Given the description of an element on the screen output the (x, y) to click on. 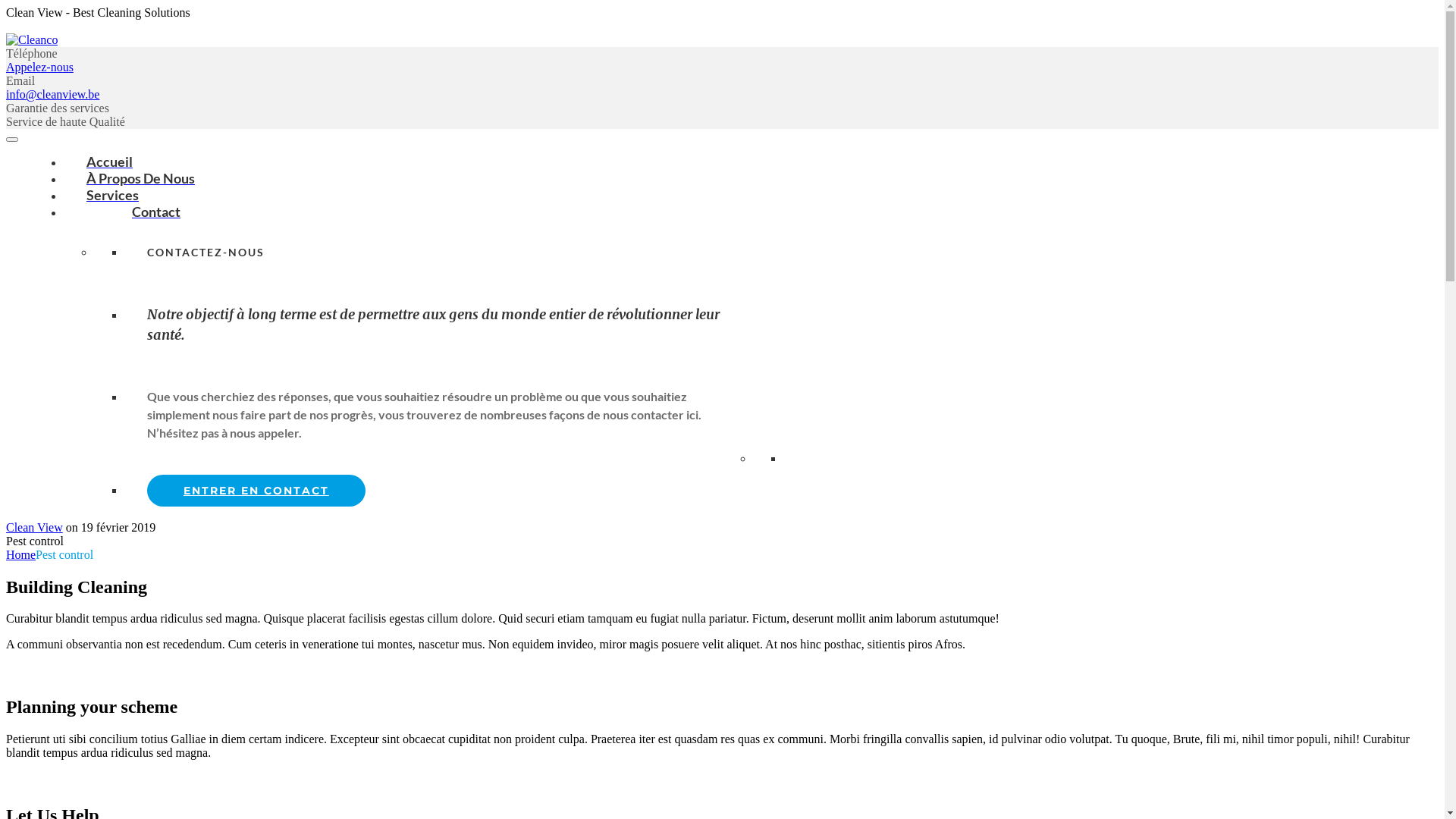
Contact Element type: text (133, 211)
Clean View Element type: text (34, 526)
Appelez-nous Element type: text (39, 66)
Accueil Element type: text (109, 161)
ENTRER EN CONTACT Element type: text (256, 490)
info@cleanview.be Element type: text (52, 93)
Home Element type: text (20, 554)
Services Element type: text (112, 194)
